Given the description of an element on the screen output the (x, y) to click on. 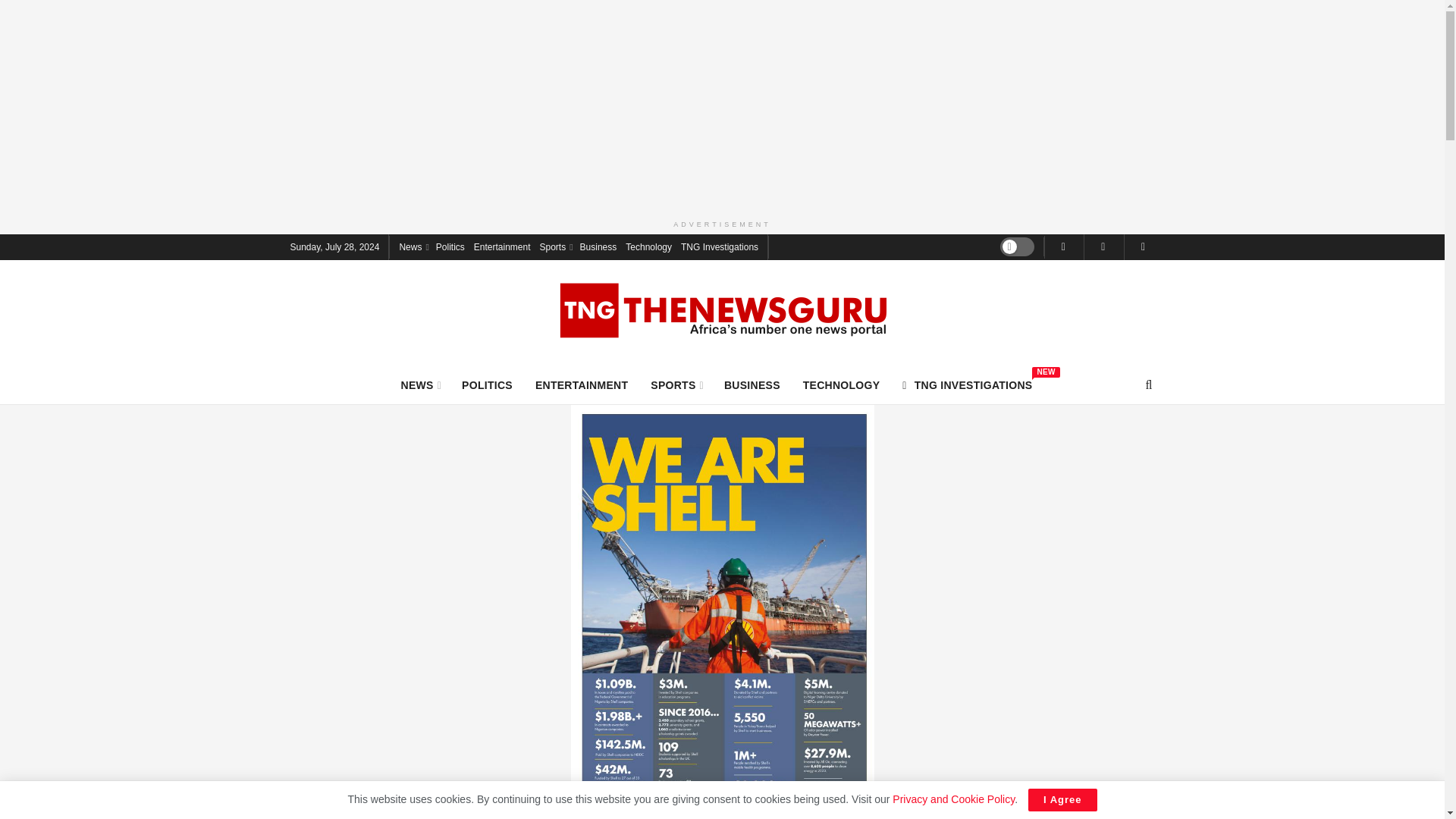
NEWS (420, 384)
News (412, 246)
TECHNOLOGY (841, 384)
SPORTS (675, 384)
BUSINESS (751, 384)
Entertainment (502, 246)
POLITICS (486, 384)
Politics (449, 246)
Technology (648, 246)
TNG Investigations (719, 246)
Business (967, 384)
ENTERTAINMENT (598, 246)
Sports (581, 384)
